Given the description of an element on the screen output the (x, y) to click on. 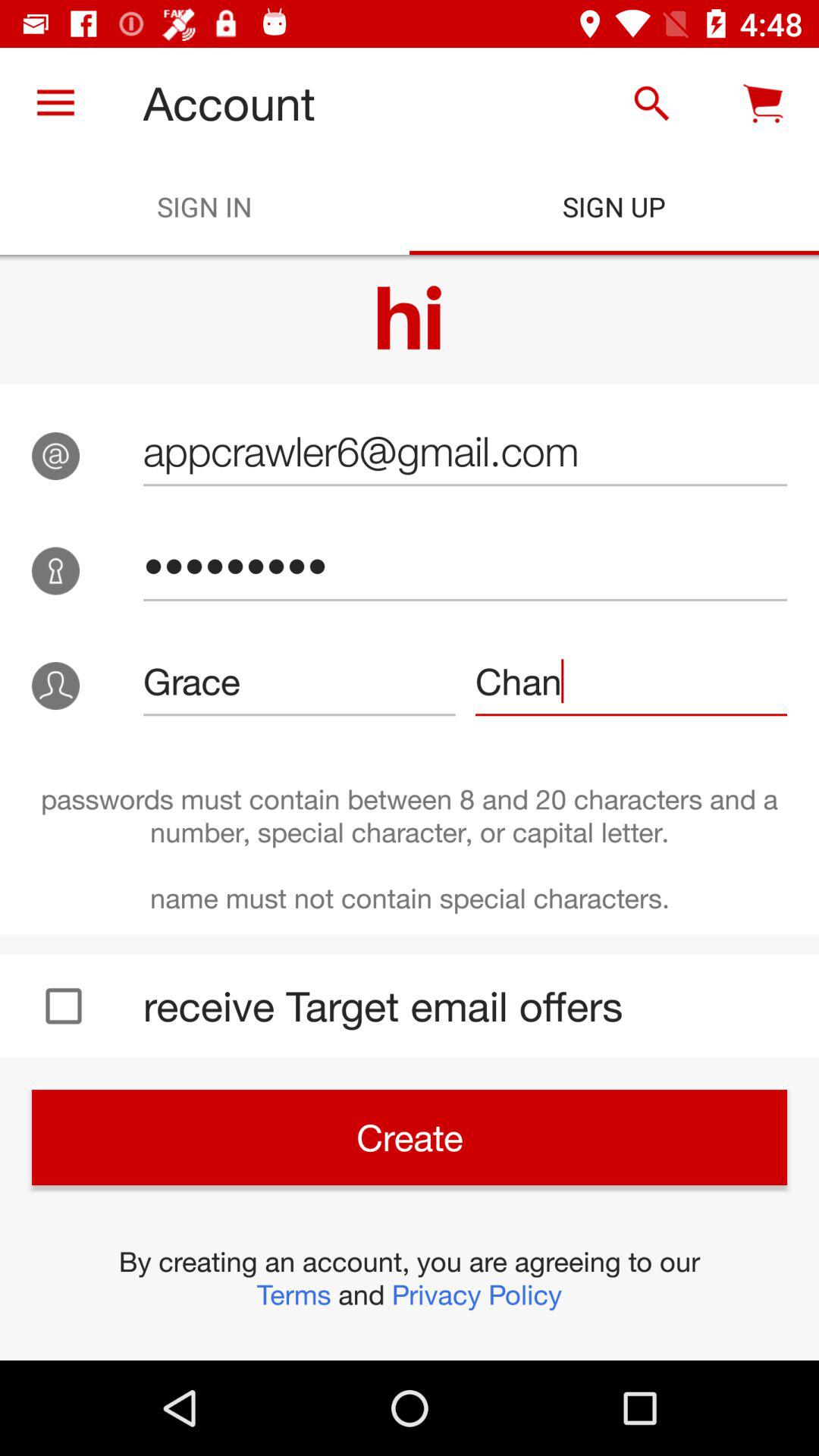
turn off icon next to grace icon (631, 681)
